Given the description of an element on the screen output the (x, y) to click on. 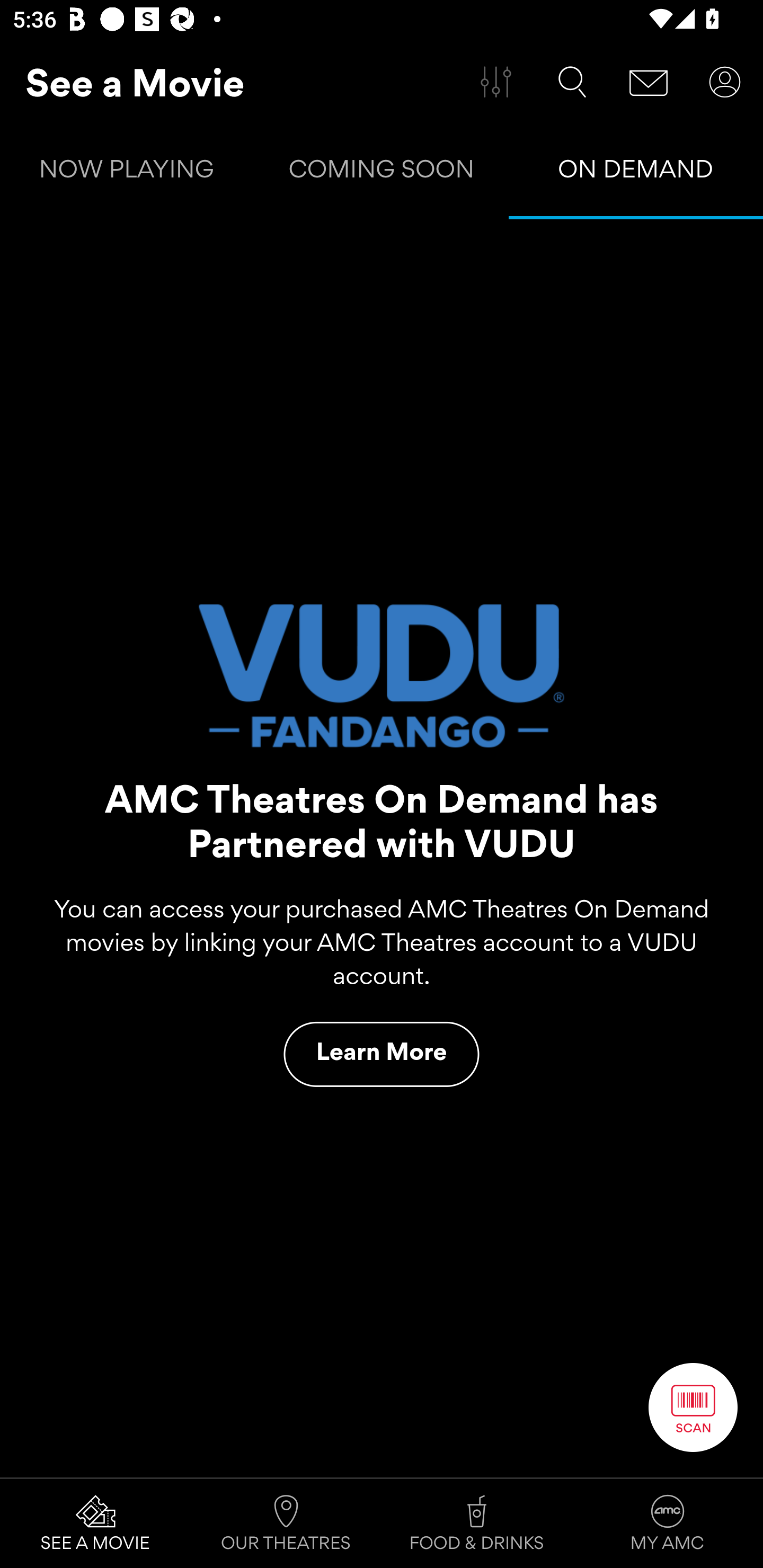
Search (572, 82)
Message Center (648, 82)
User Account (724, 82)
NOW PLAYING
Tab 1 of 3 (127, 173)
COMING SOON
Tab 2 of 3 (381, 173)
ON DEMAND
Tab 3 of 3 (635, 173)
Learn More (381, 1054)
Scan Button (692, 1406)
SEE A MOVIE
Tab 1 of 4 (95, 1523)
OUR THEATRES
Tab 2 of 4 (285, 1523)
FOOD & DRINKS
Tab 3 of 4 (476, 1523)
MY AMC
Tab 4 of 4 (667, 1523)
